Given the description of an element on the screen output the (x, y) to click on. 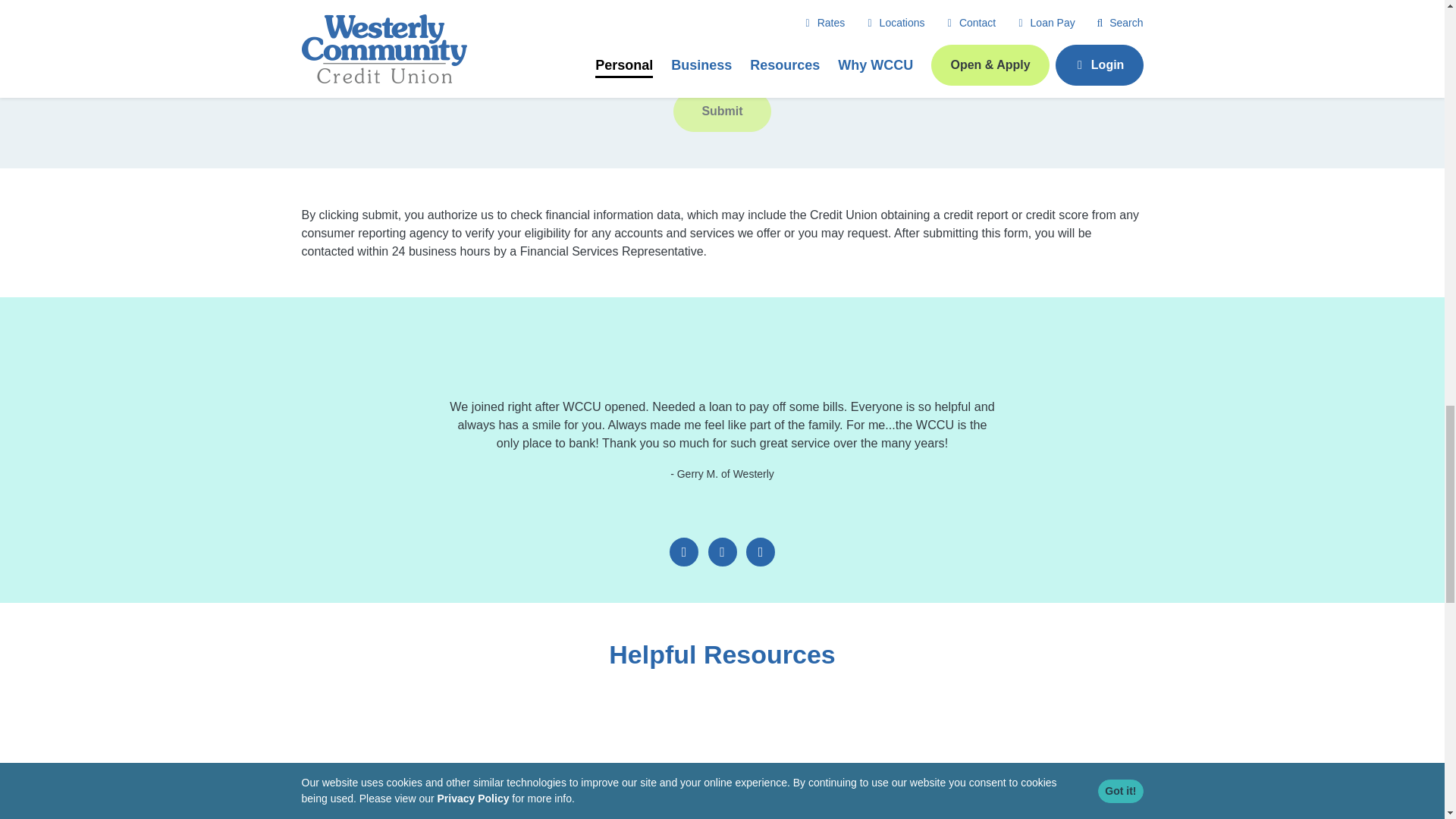
Submit (721, 110)
